Given the description of an element on the screen output the (x, y) to click on. 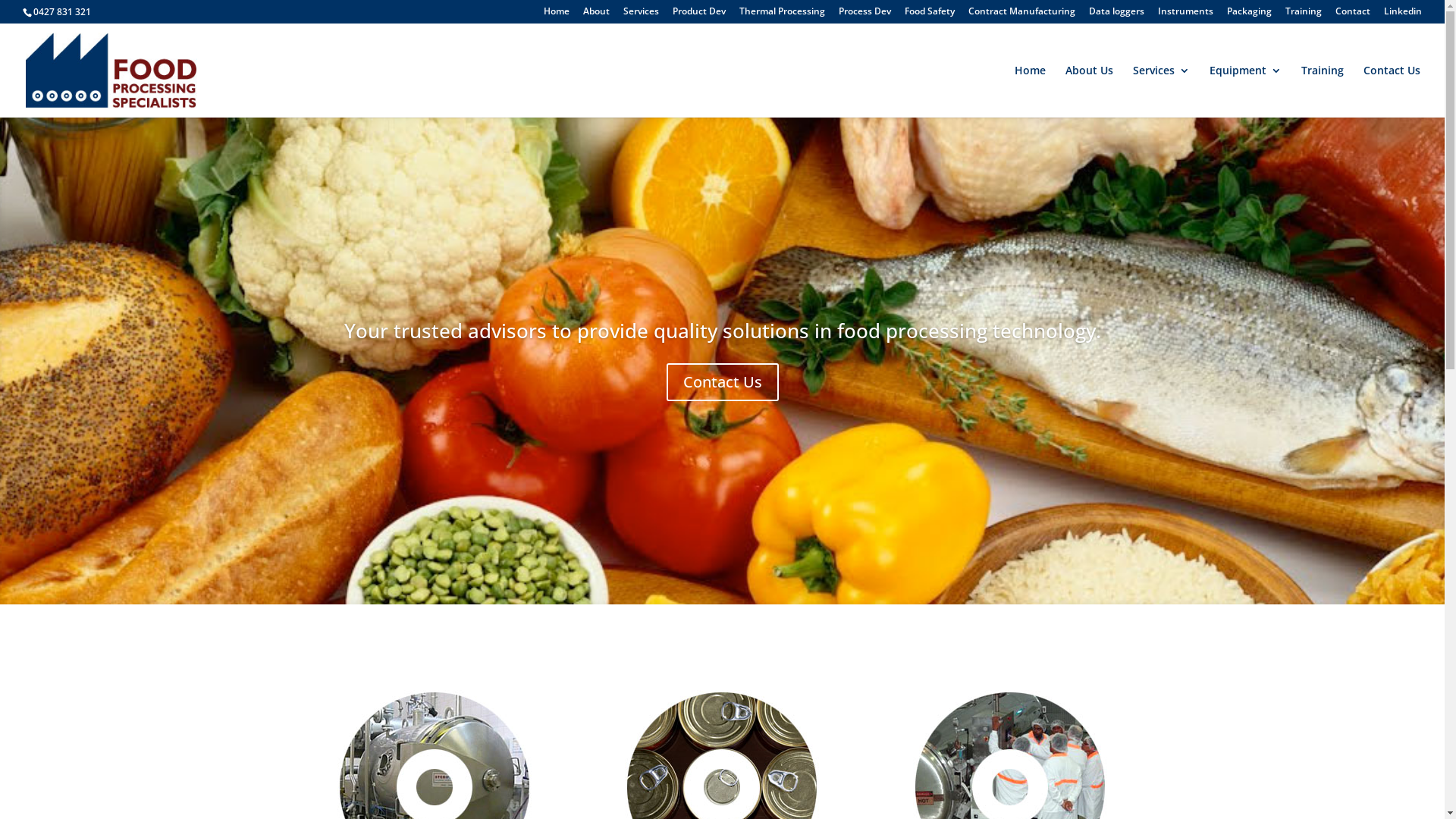
Training Element type: text (1303, 14)
Process Dev Element type: text (864, 14)
Contact Us Element type: text (1391, 91)
Equipment Element type: text (1245, 91)
Instruments Element type: text (1185, 14)
Home Element type: text (1029, 91)
Data loggers Element type: text (1116, 14)
Training Element type: text (1322, 91)
Food Safety Element type: text (929, 14)
Packaging Element type: text (1248, 14)
Product Dev Element type: text (698, 14)
Contract Manufacturing Element type: text (1021, 14)
Contact Us Element type: text (721, 382)
About Element type: text (596, 14)
Home Element type: text (556, 14)
About Us Element type: text (1089, 91)
Thermal Processing Element type: text (782, 14)
Services Element type: text (1160, 91)
Linkedin Element type: text (1402, 14)
Contact Element type: text (1352, 14)
Services Element type: text (640, 14)
